Given the description of an element on the screen output the (x, y) to click on. 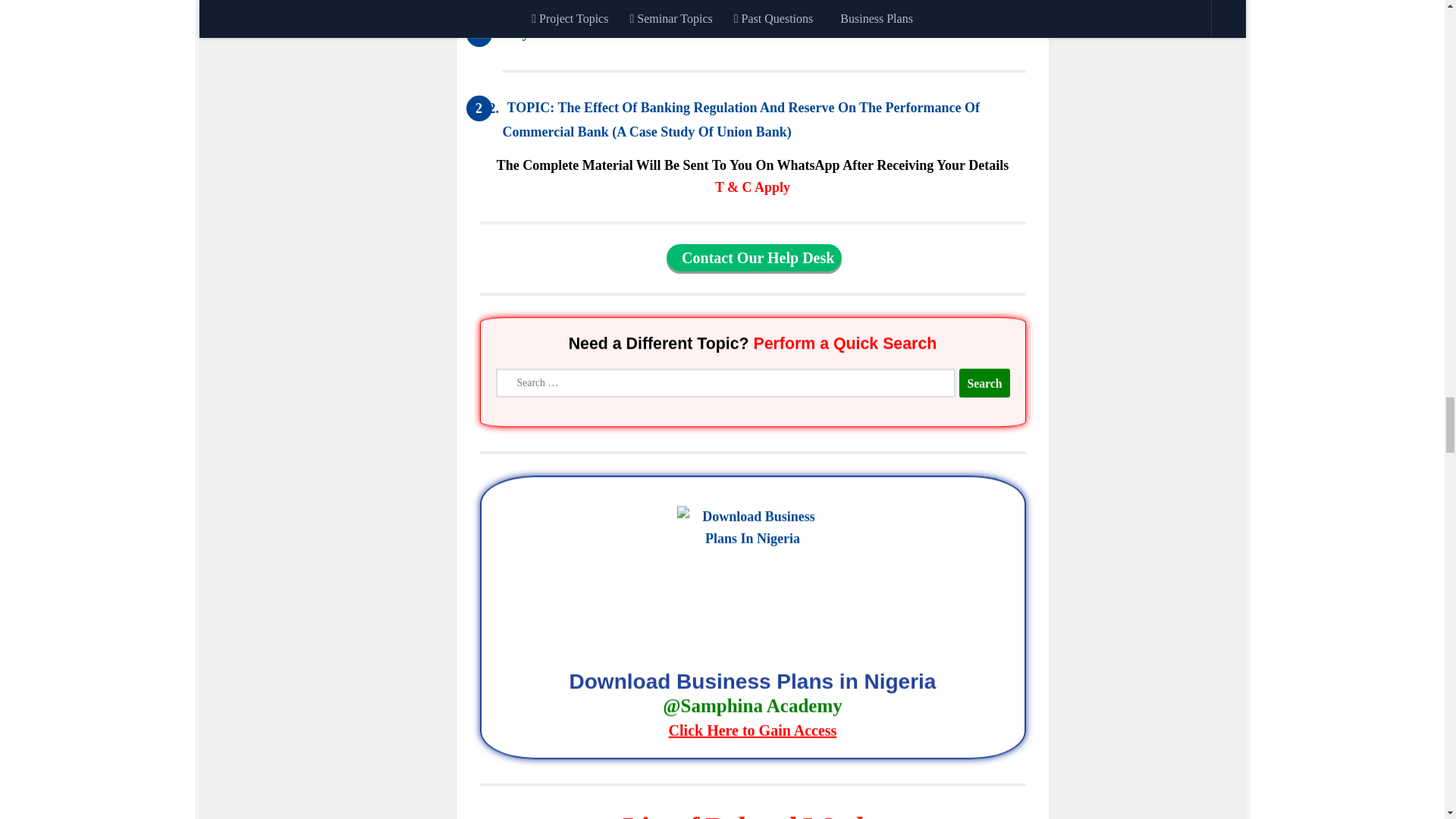
08143831497 (838, 2)
Contact Information Page (753, 257)
Contact Our Help Desk (753, 257)
Download Business Plans in Nigeria (752, 707)
Samphina Terms and Conditions (752, 186)
Search (984, 382)
Search (984, 384)
Search (984, 384)
